Given the description of an element on the screen output the (x, y) to click on. 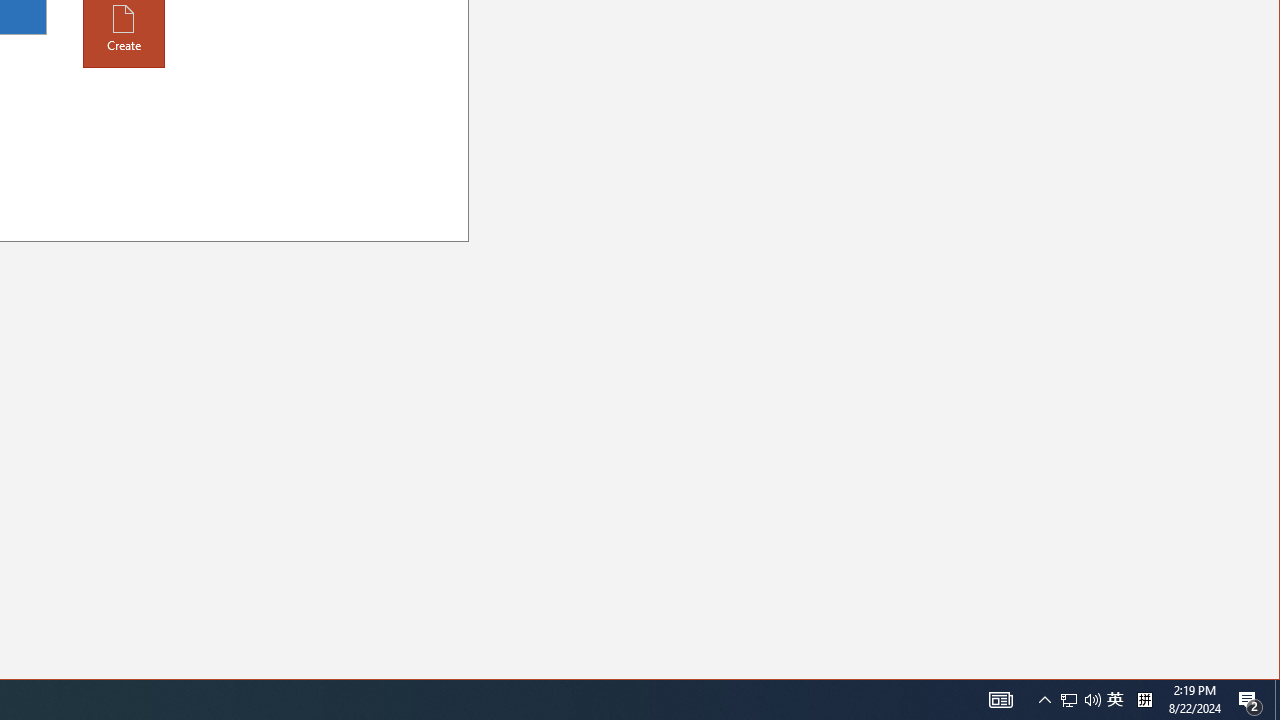
Action Center, 2 new notifications (1250, 699)
